Given the description of an element on the screen output the (x, y) to click on. 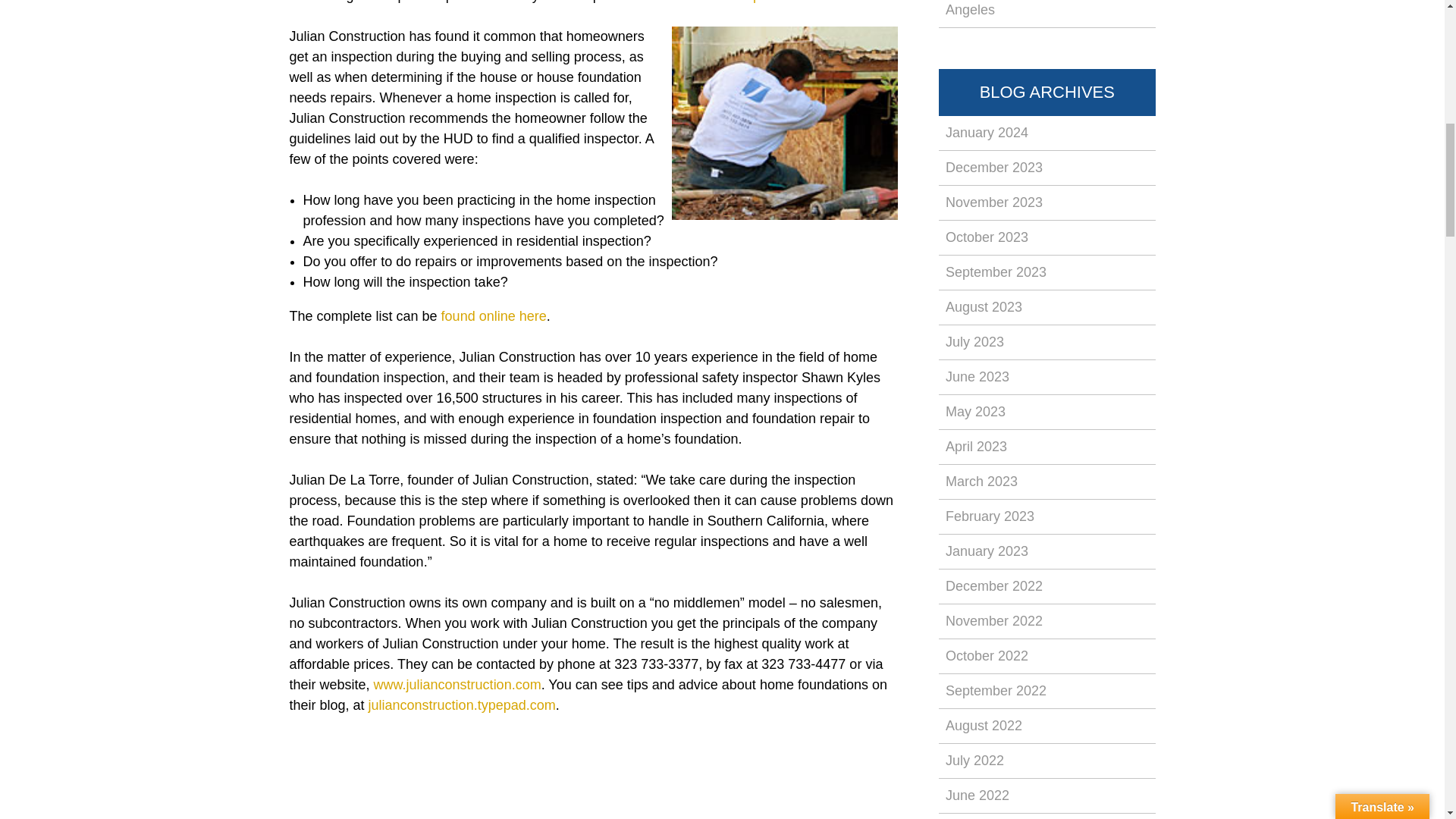
www.julianconstruction.com (457, 684)
home foundation repair (704, 1)
Downpours and Flooding in Los Angeles (1047, 13)
found online here (494, 315)
January 2024 (1047, 132)
julianconstruction.typepad.com (462, 704)
